Given the description of an element on the screen output the (x, y) to click on. 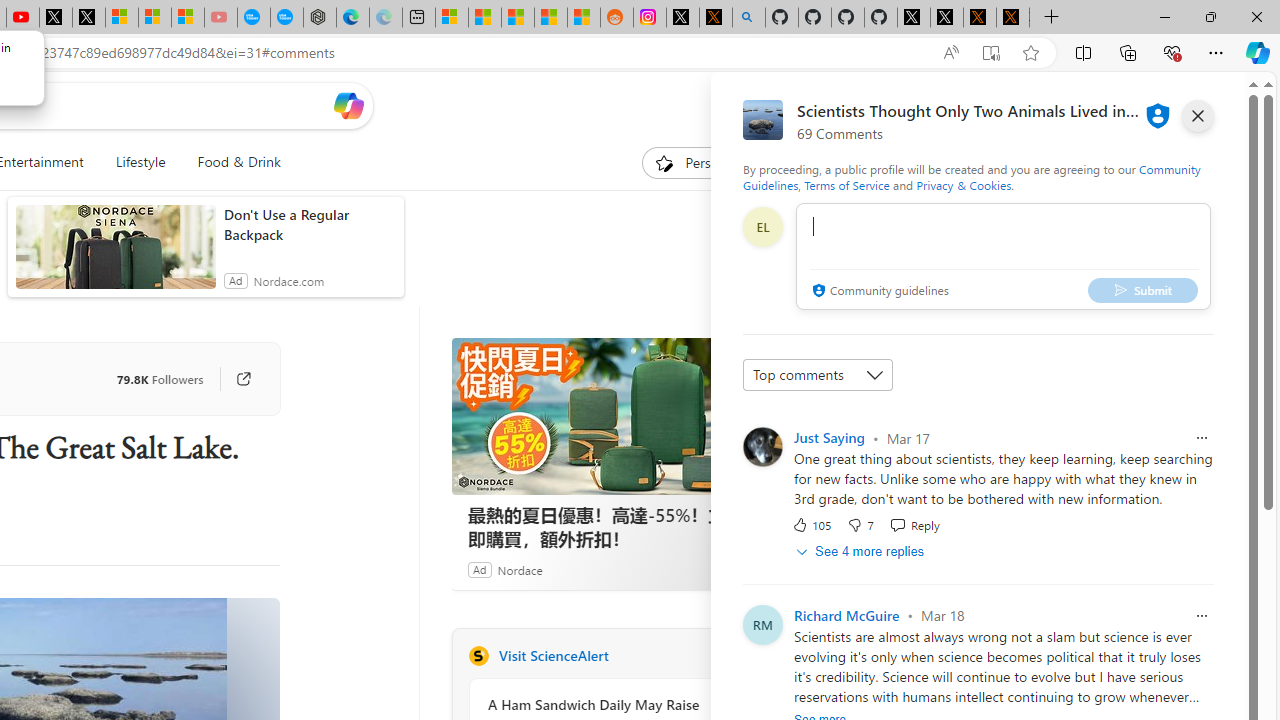
Terms of Service (846, 184)
Privacy & Cookies (964, 184)
Log in to X / X (682, 17)
Personalize (703, 162)
Community Guidelines (971, 176)
anim-content (115, 255)
Submit (1143, 290)
Opinion: Op-Ed and Commentary - USA TODAY (254, 17)
